Given the description of an element on the screen output the (x, y) to click on. 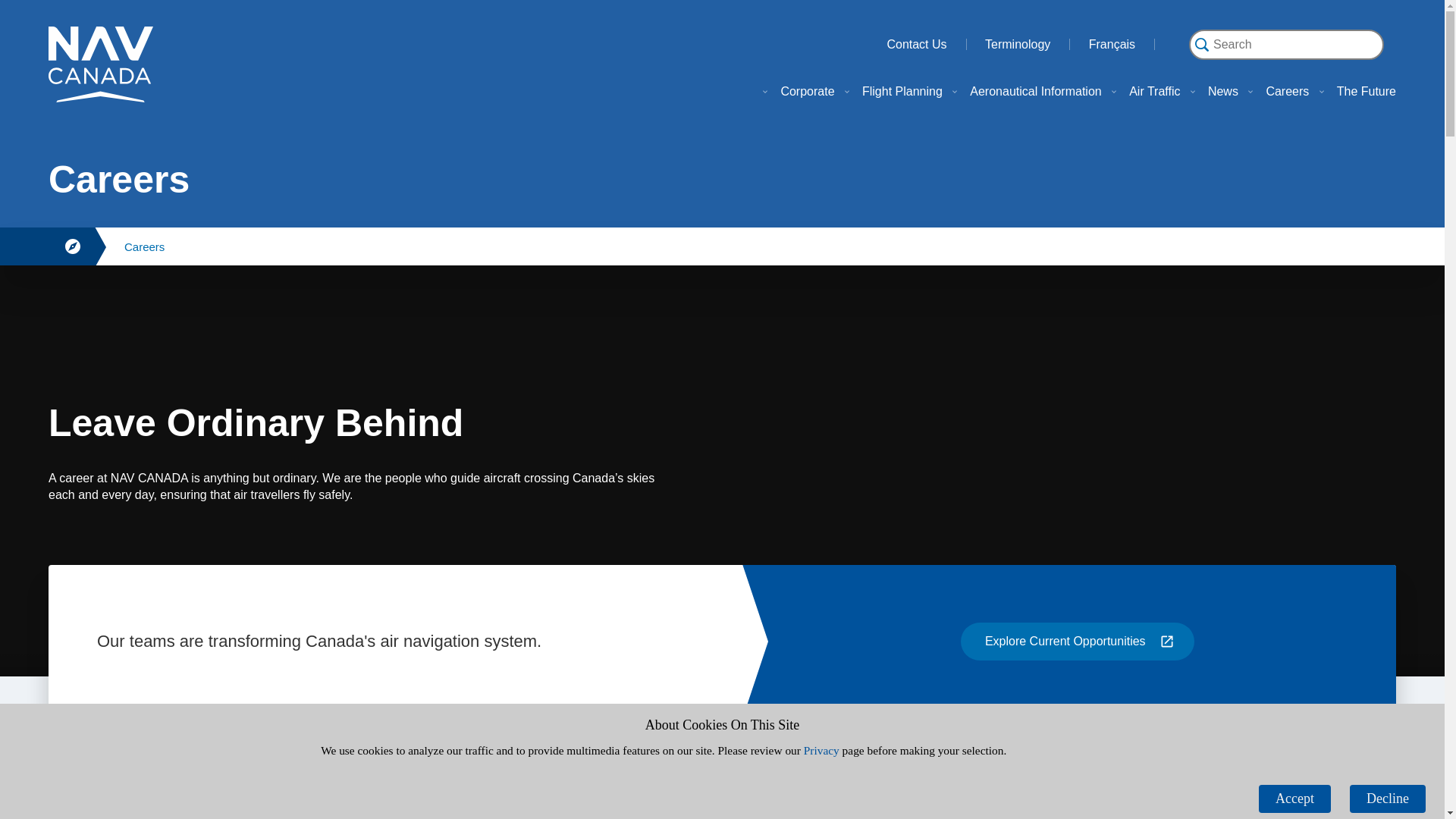
Aeronautical Information (1022, 91)
Terminology (1034, 43)
Corporate (794, 91)
Flight Planning (890, 91)
Contact Us (933, 43)
